Given the description of an element on the screen output the (x, y) to click on. 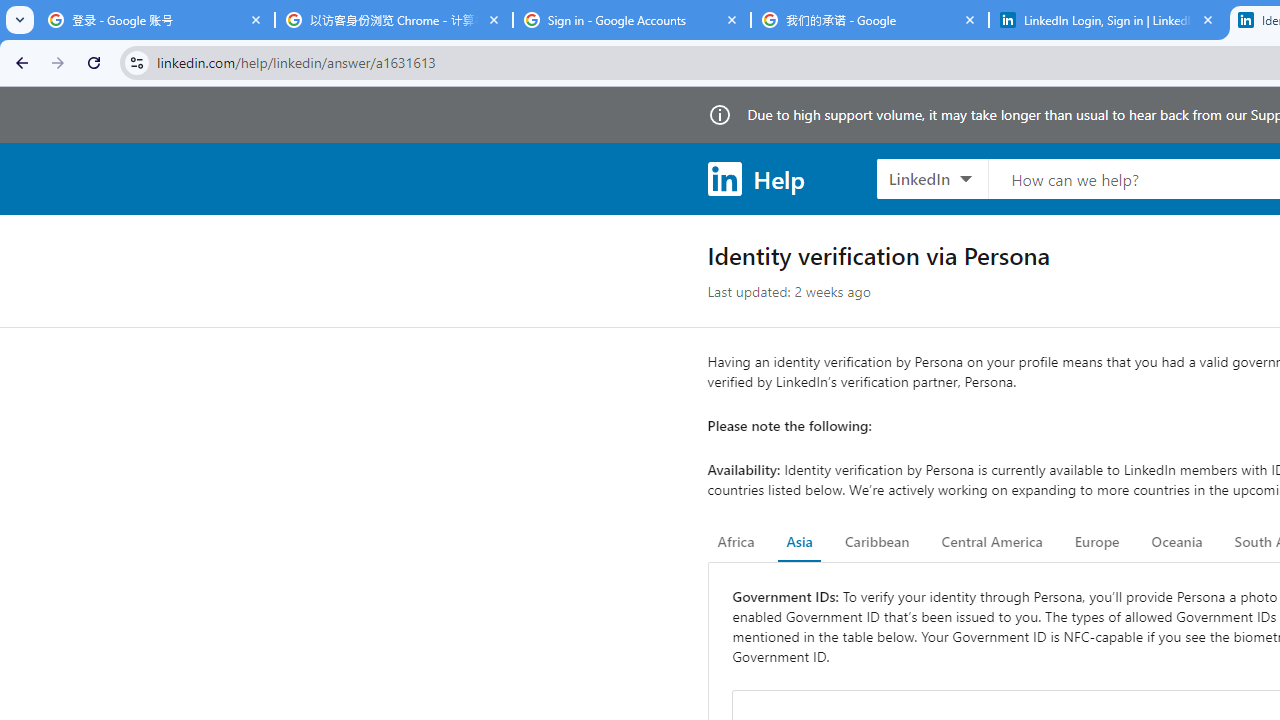
Africa (735, 542)
LinkedIn products to search, LinkedIn selected (932, 178)
Caribbean (876, 542)
Europe (1096, 542)
Asia (799, 542)
Sign in - Google Accounts (632, 20)
Oceania (1176, 542)
